Given the description of an element on the screen output the (x, y) to click on. 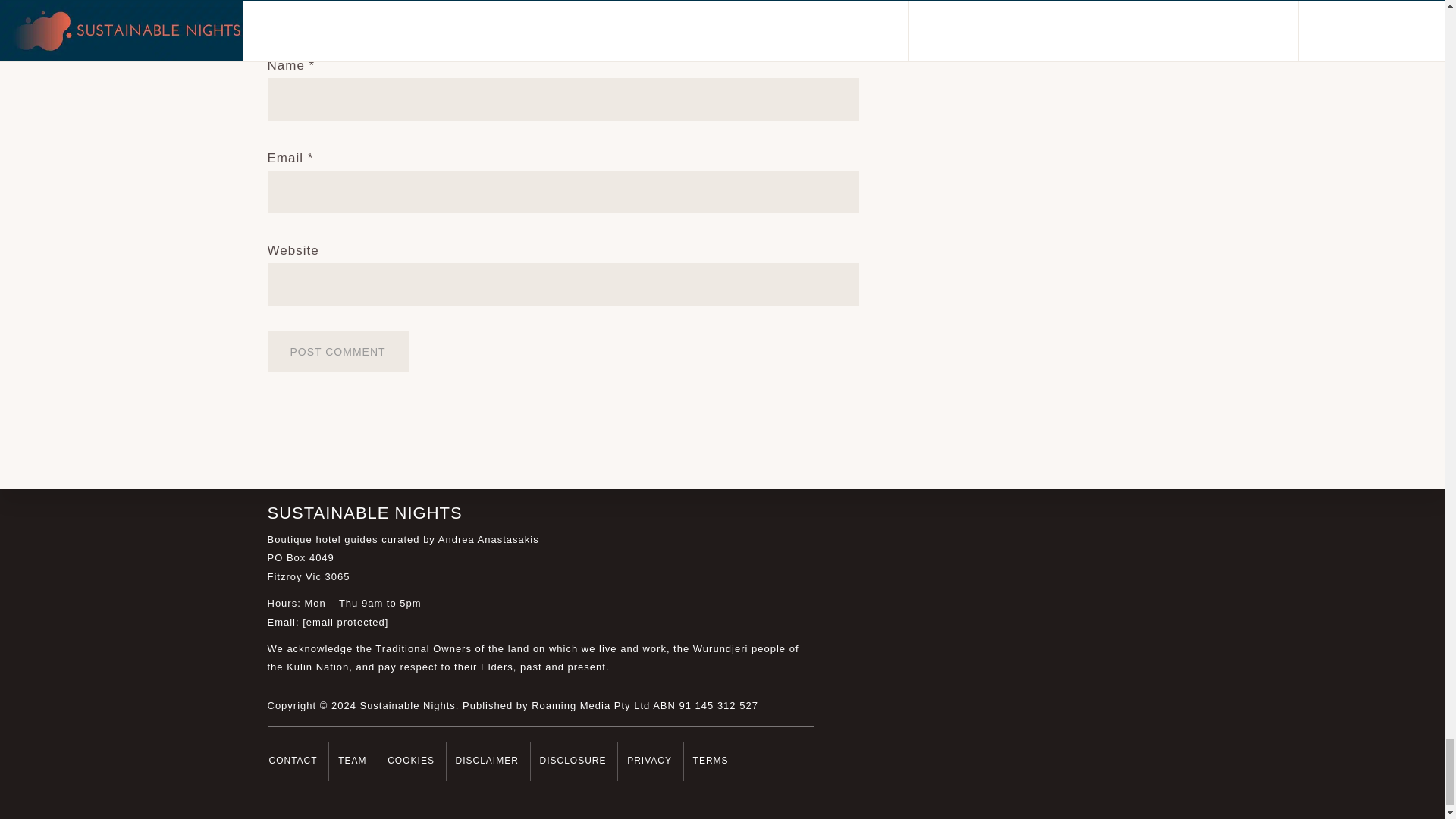
Post Comment (336, 351)
